Given the description of an element on the screen output the (x, y) to click on. 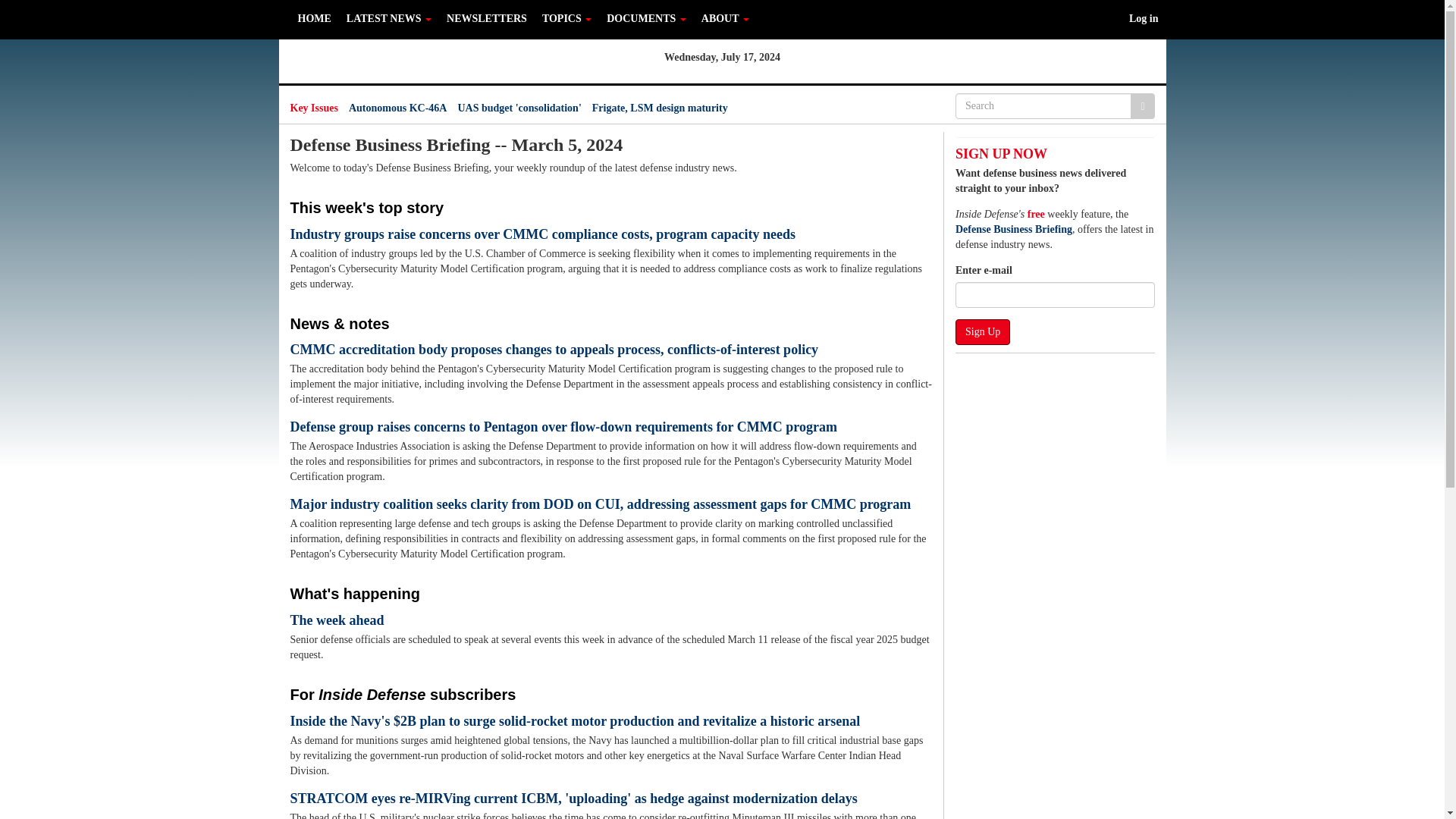
HOME (313, 18)
TOPICS (566, 18)
NEWSLETTERS (486, 18)
DOCUMENTS (646, 18)
LATEST NEWS (389, 18)
